Given the description of an element on the screen output the (x, y) to click on. 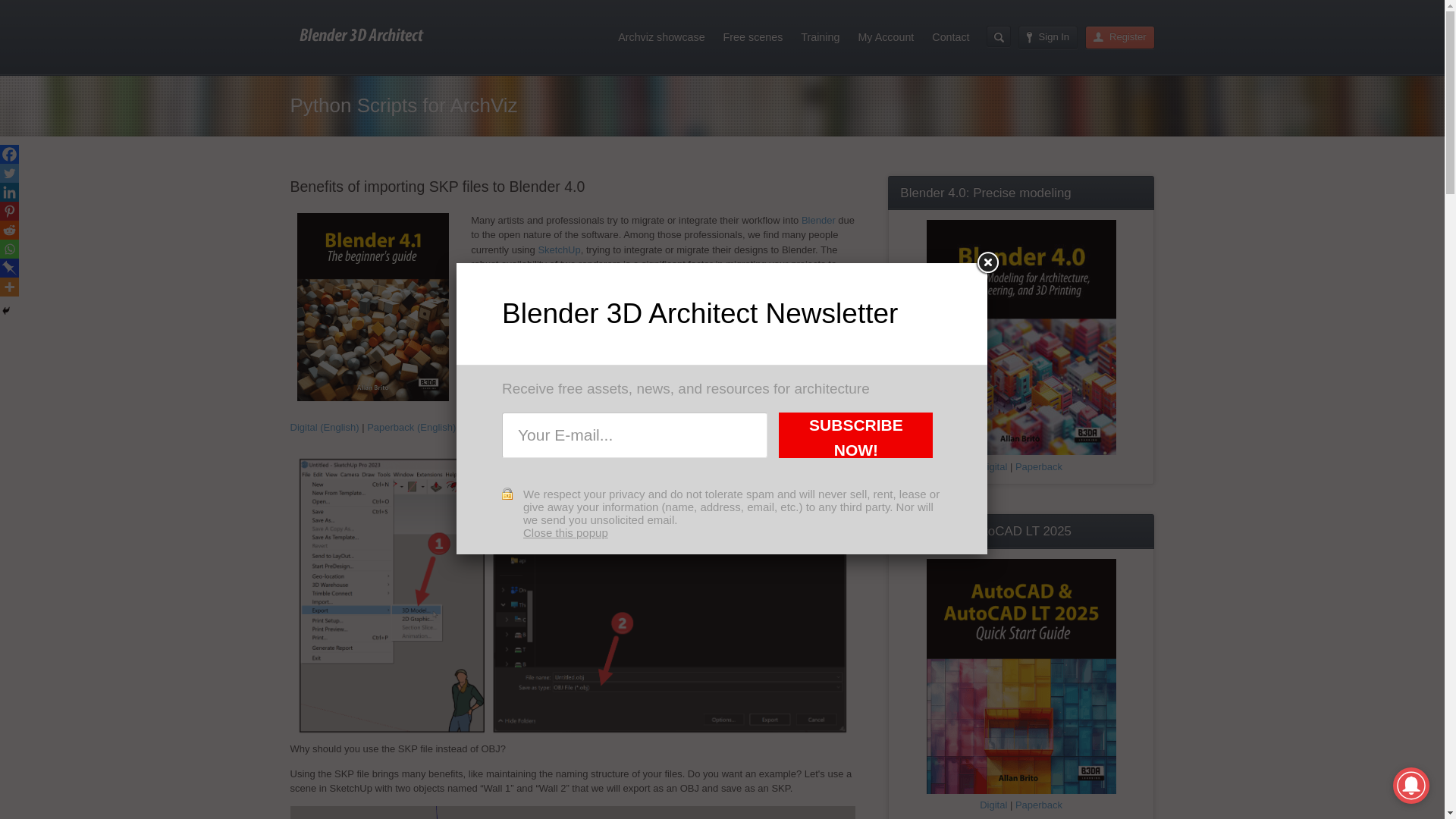
SketchUp (558, 249)
Sign In (1048, 36)
Training (820, 37)
Linkedin (9, 191)
Hide (5, 310)
Twitter (9, 172)
Contact (950, 37)
Archviz showcase (660, 37)
Blender (818, 220)
Reddit (9, 229)
More (9, 286)
My Account (885, 37)
Whatsapp (9, 248)
Pinterest (9, 210)
Close (987, 262)
